Given the description of an element on the screen output the (x, y) to click on. 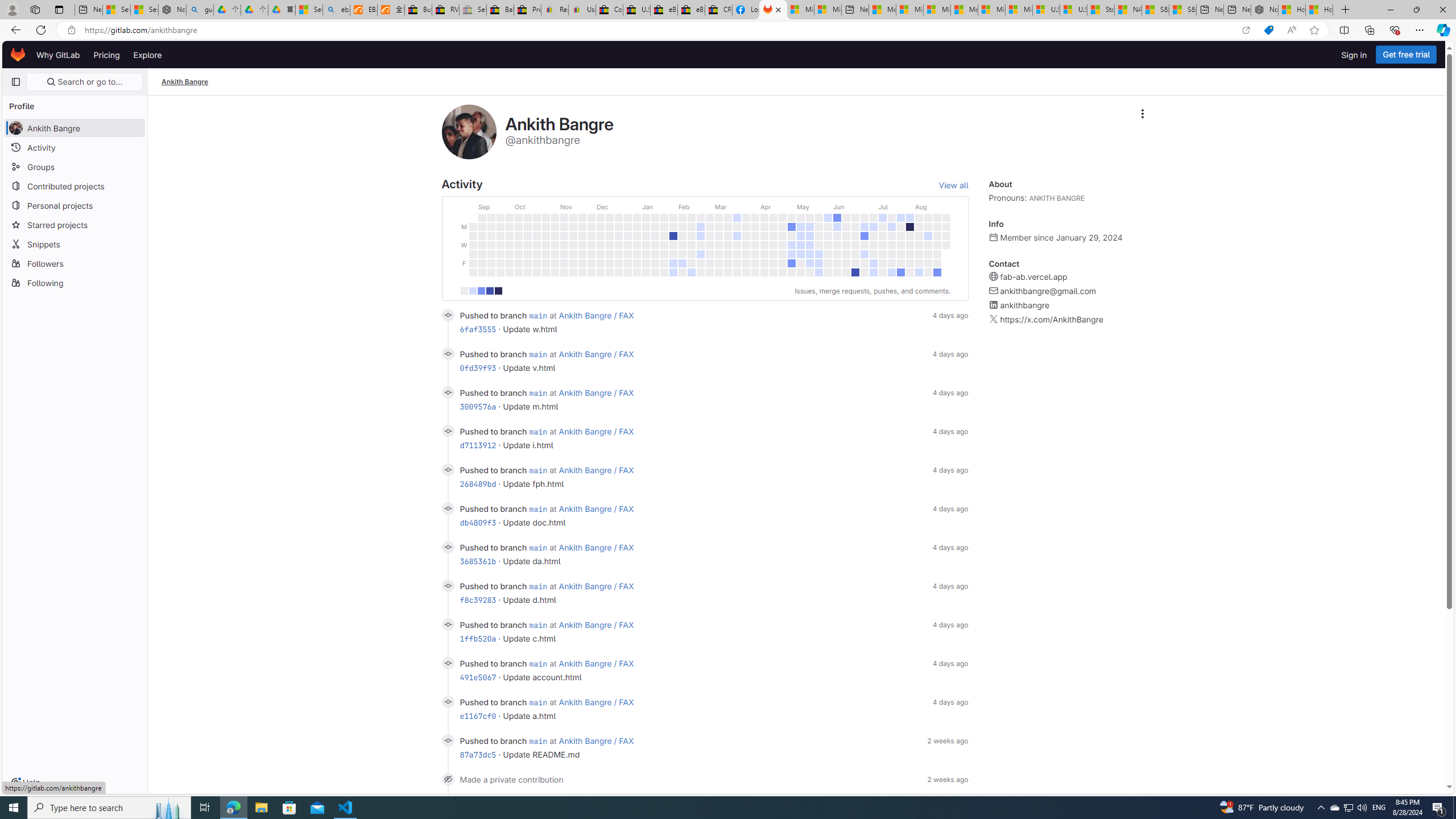
Explore (146, 54)
491e5067 (478, 677)
User profile picture (468, 131)
